Given the description of an element on the screen output the (x, y) to click on. 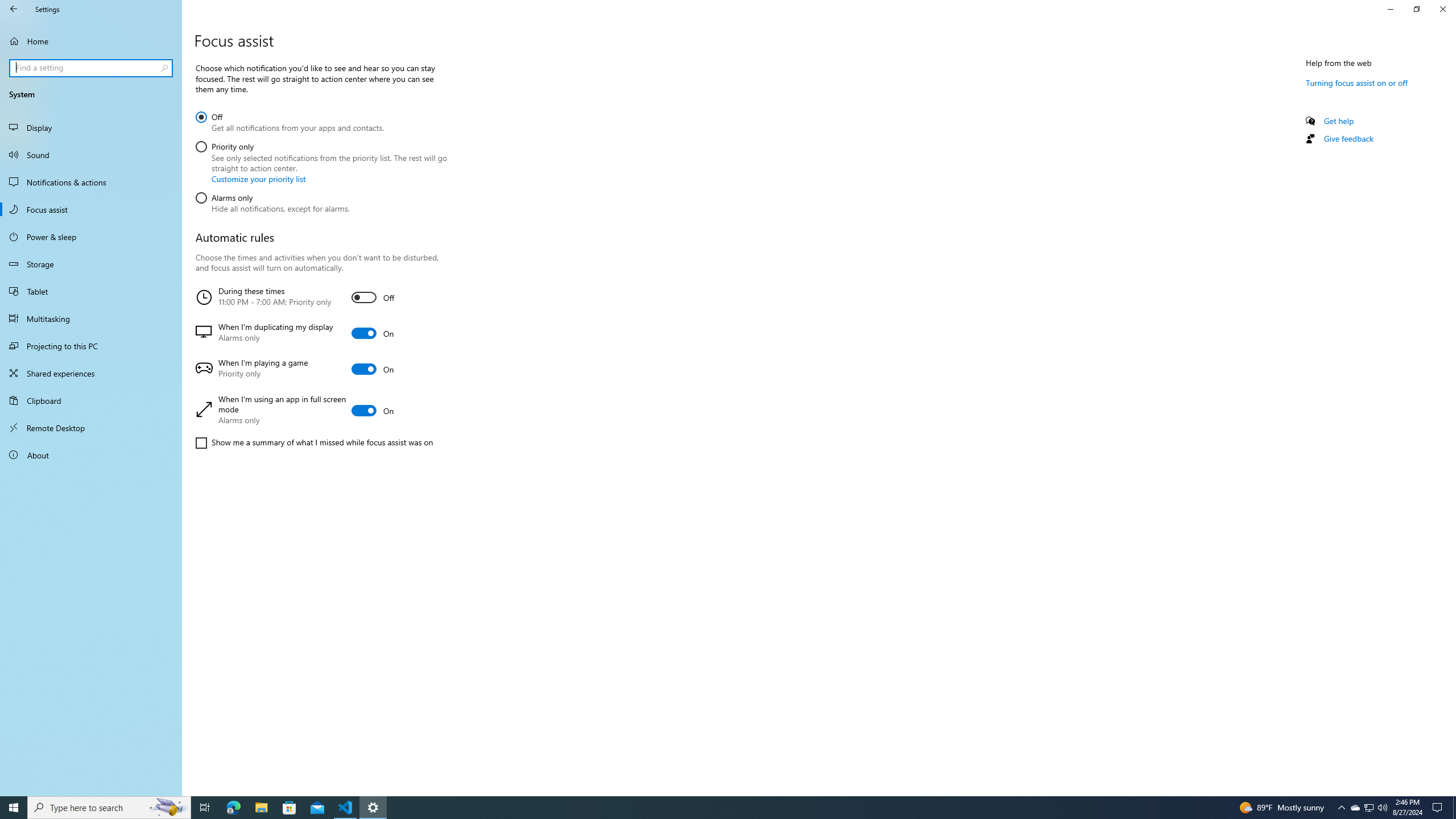
Running applications (717, 807)
Power & sleep (91, 236)
Priority only (320, 160)
Storage (91, 263)
Get help (1338, 120)
Alarms only (272, 201)
Restore Settings (1416, 9)
Search box, Find a setting (91, 67)
During these times (319, 297)
